Given the description of an element on the screen output the (x, y) to click on. 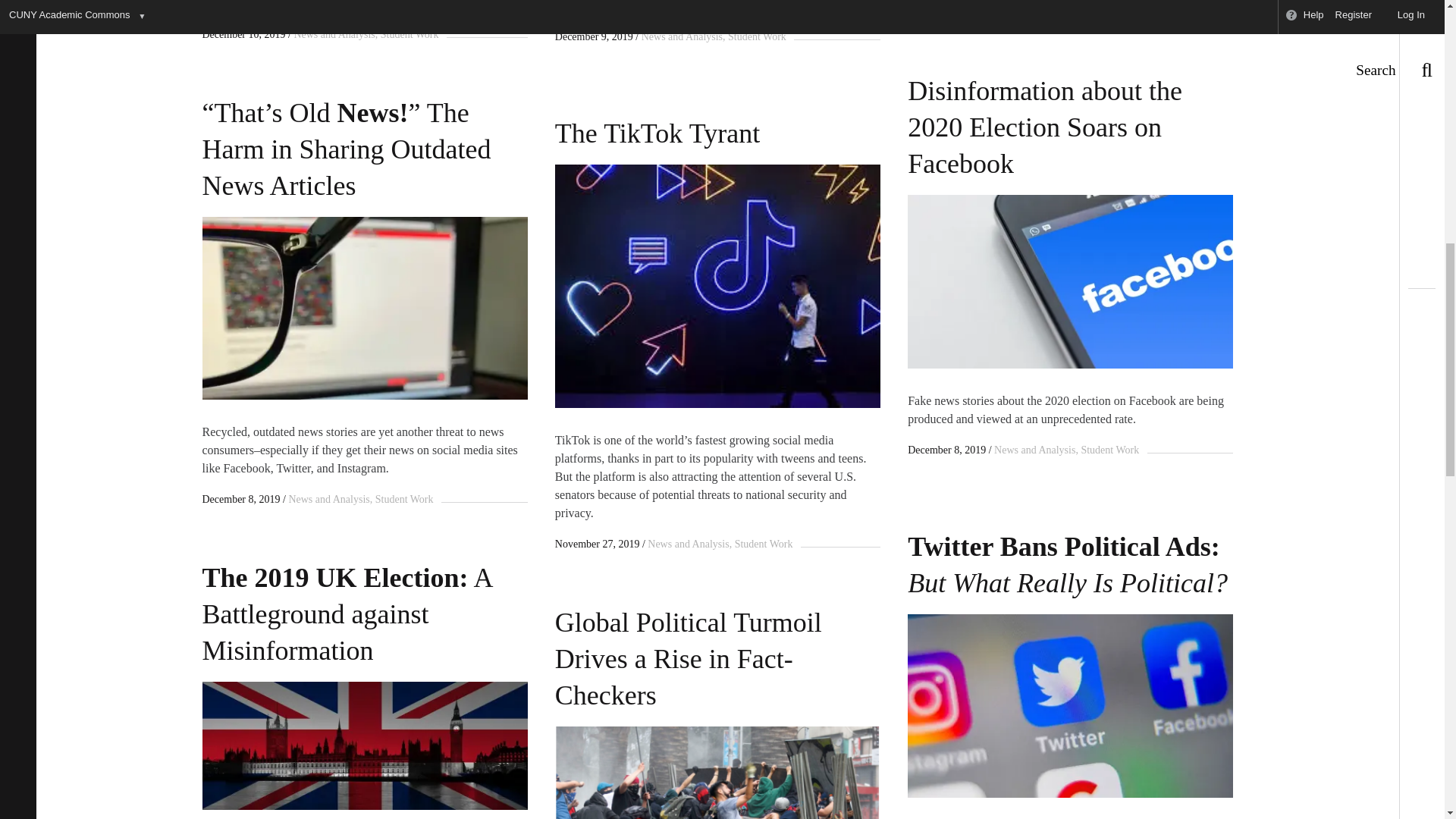
The TikTok Tyrant (717, 127)
Disinformation about the 2020 Election Soars on Facebook (1070, 121)
News and Analysis (688, 543)
News and Analysis (328, 499)
News and Analysis (1034, 449)
News and Analysis (682, 36)
Student Work (407, 34)
Student Work (1106, 449)
December 8, 2019 (946, 449)
December 8, 2019 (240, 499)
N (1070, 281)
Student Work (401, 499)
Student Work (761, 543)
December 10, 2019 (243, 34)
Student Work (754, 36)
